Given the description of an element on the screen output the (x, y) to click on. 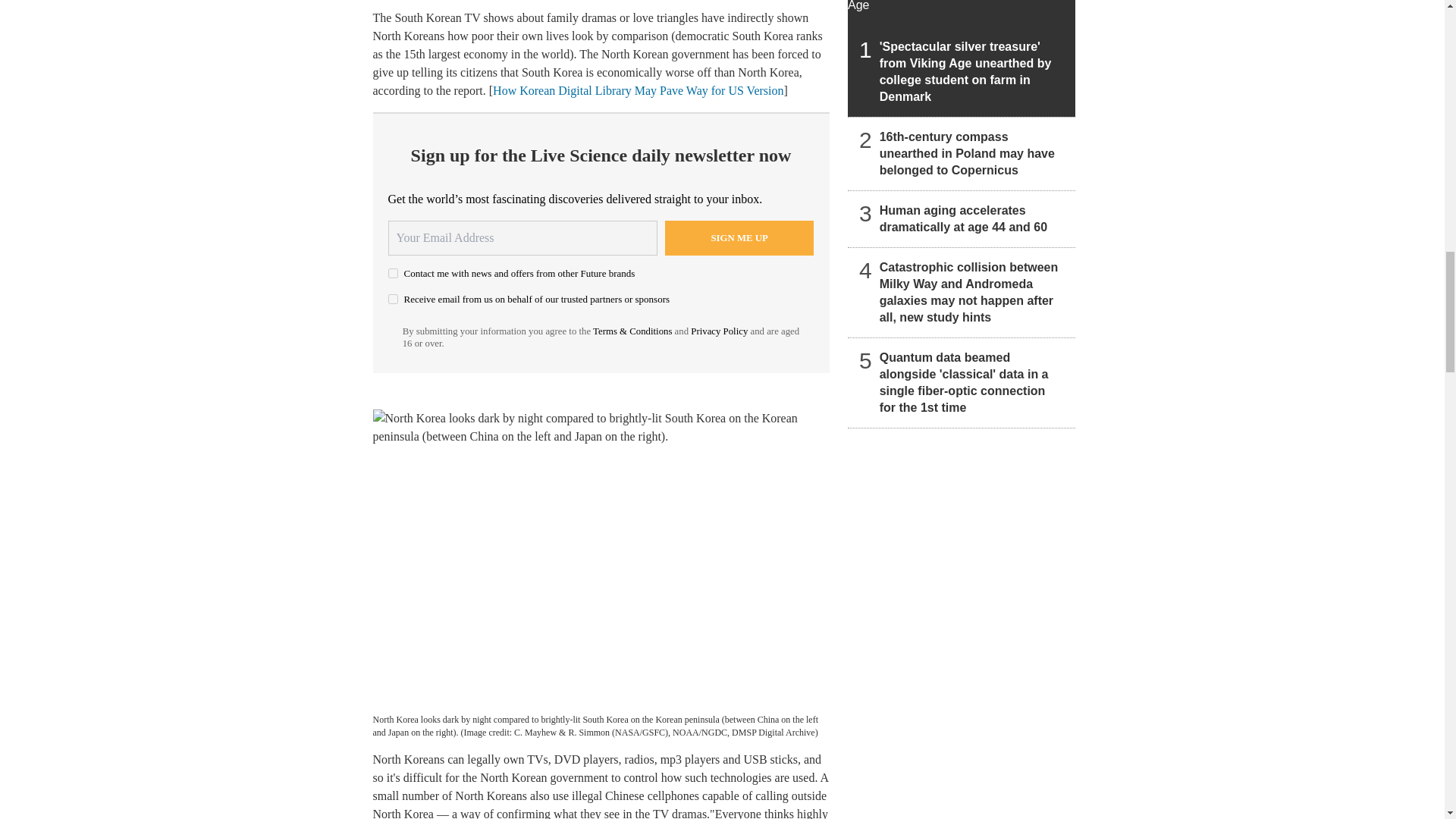
on (392, 298)
on (392, 273)
Sign me up (739, 237)
